Given the description of an element on the screen output the (x, y) to click on. 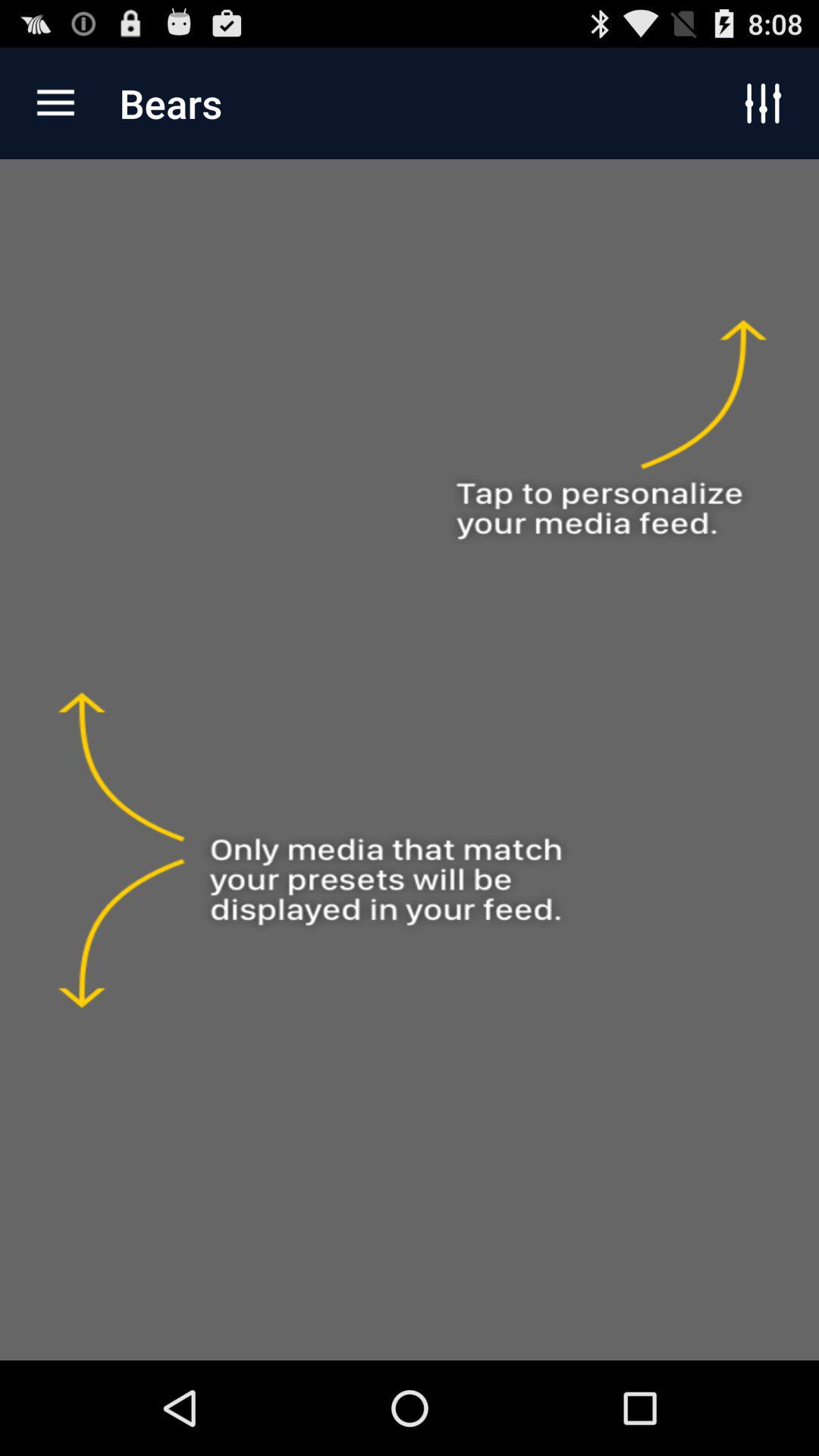
open the app to the left of the bears item (55, 103)
